Given the description of an element on the screen output the (x, y) to click on. 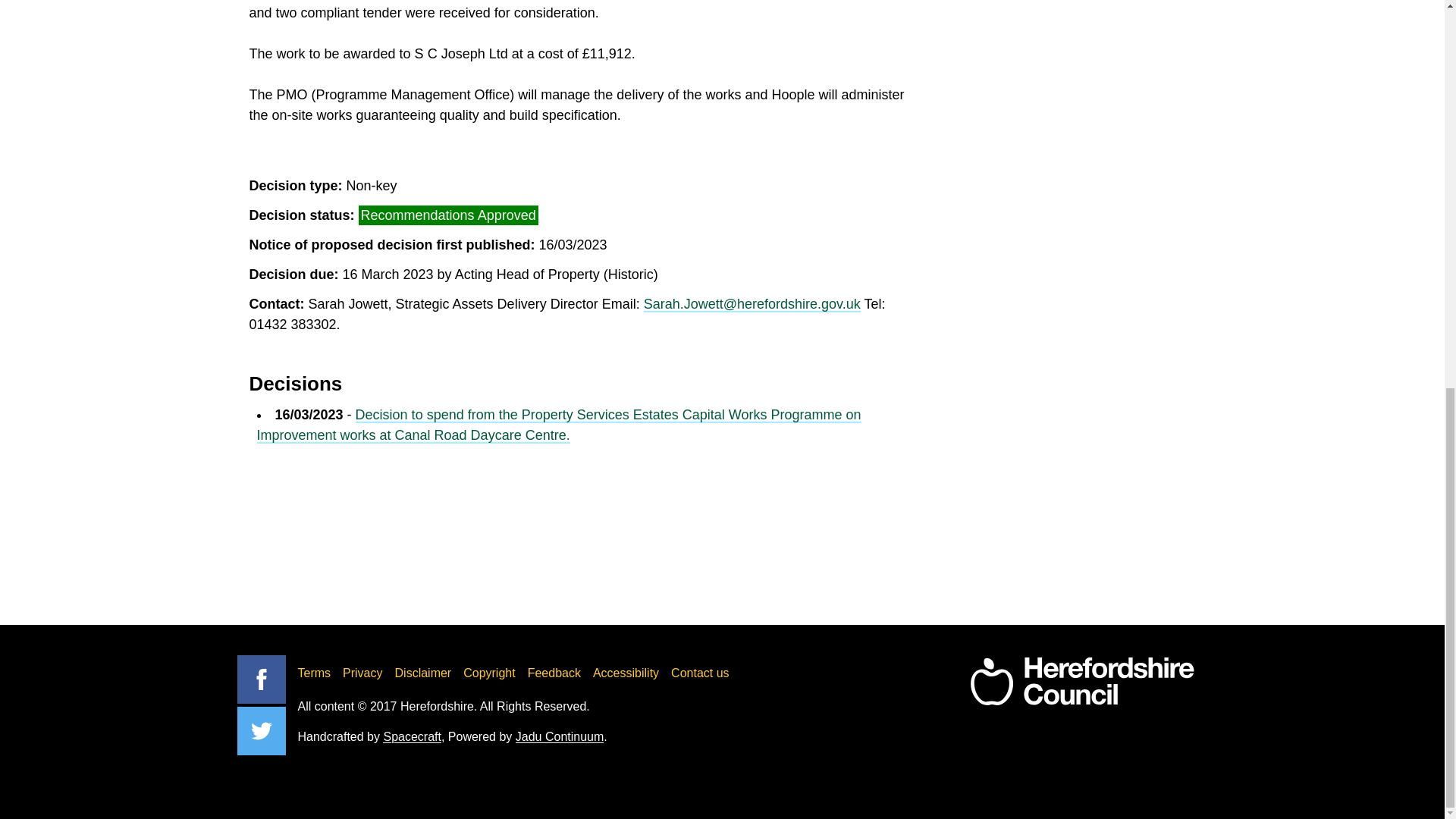
Follow us on Twitter (260, 730)
Find us on Facebook (260, 679)
Link to decision details (558, 425)
